Given the description of an element on the screen output the (x, y) to click on. 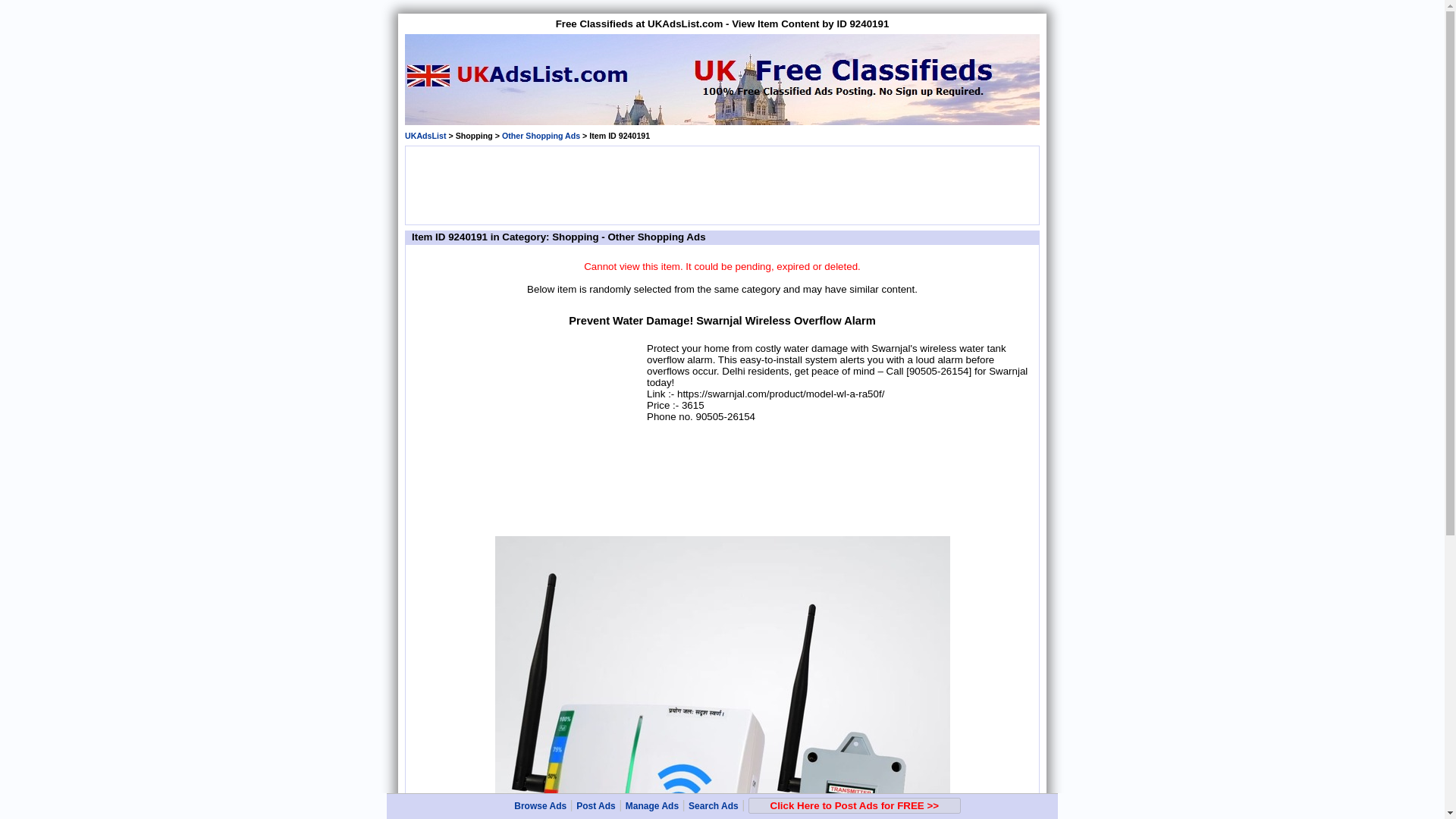
Post Ads (595, 805)
Search Ads (713, 805)
Advertisement (721, 183)
Other Shopping Ads (540, 135)
Go Back to UKAdsList.com Home Page (424, 135)
Browse Ads (539, 805)
Advertisement (527, 435)
Manage Ads (652, 805)
UKAdsList (424, 135)
